Given the description of an element on the screen output the (x, y) to click on. 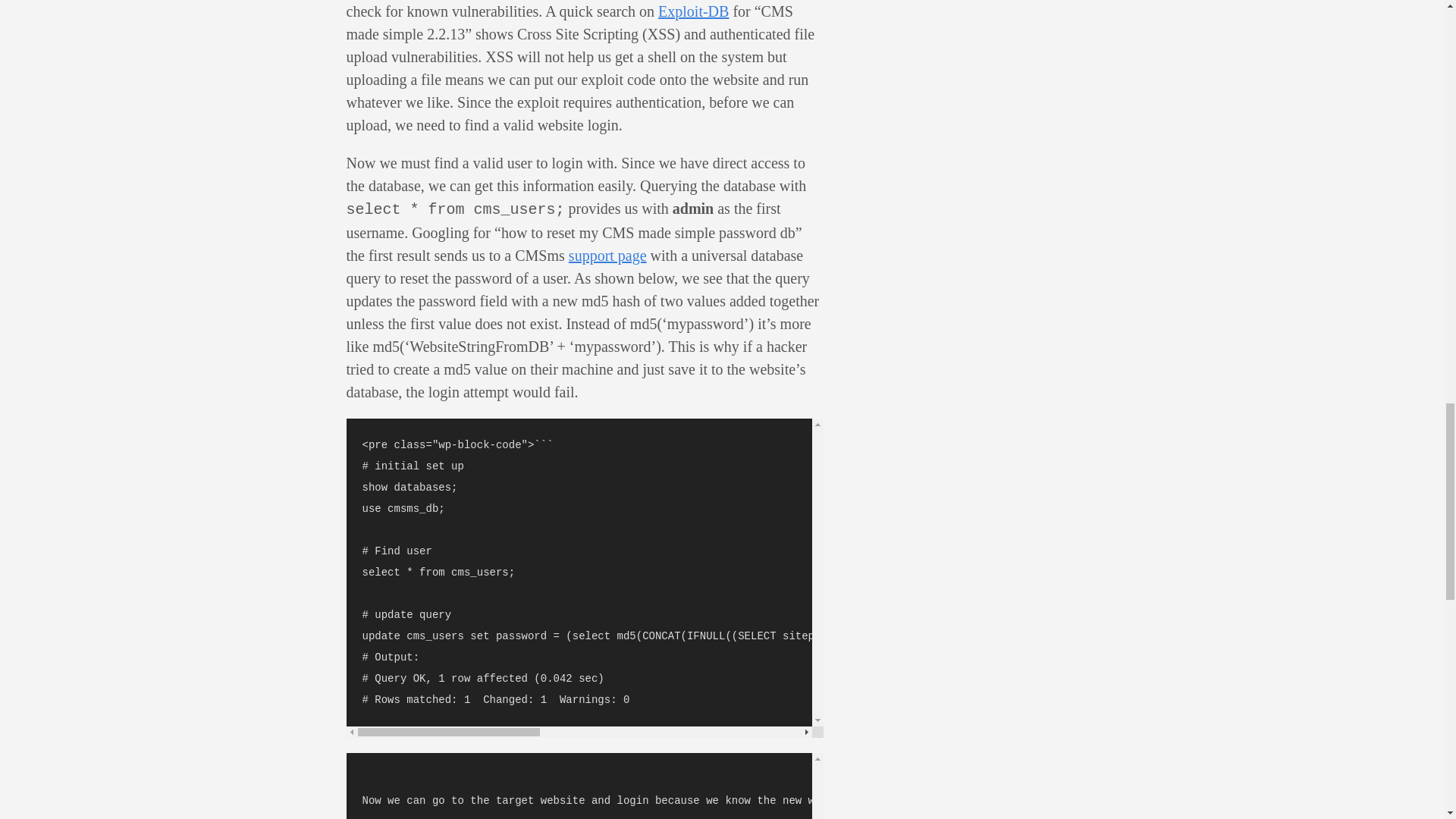
support page (607, 255)
Exploit-DB (693, 11)
